Given the description of an element on the screen output the (x, y) to click on. 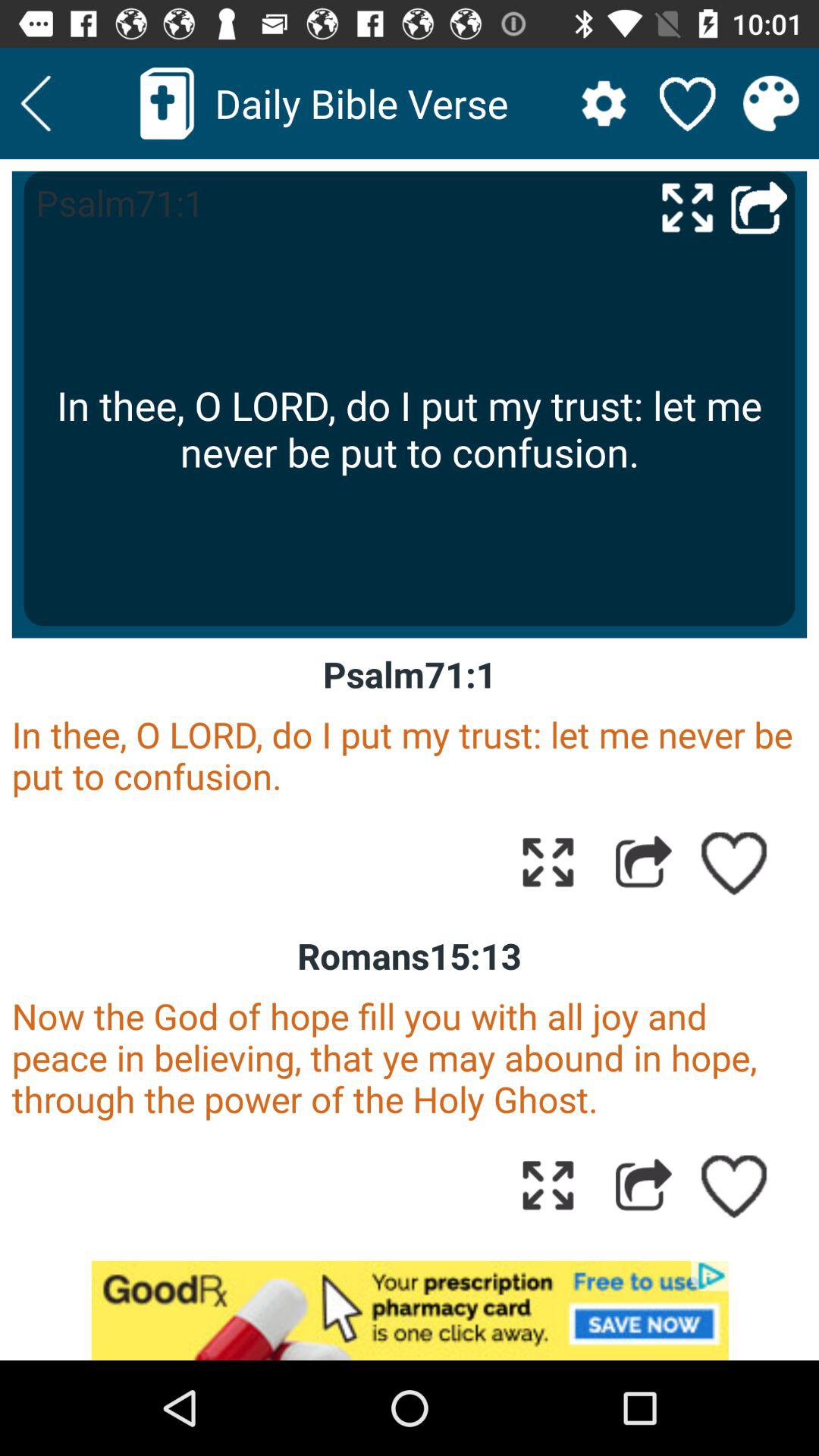
share the option (643, 1184)
